Given the description of an element on the screen output the (x, y) to click on. 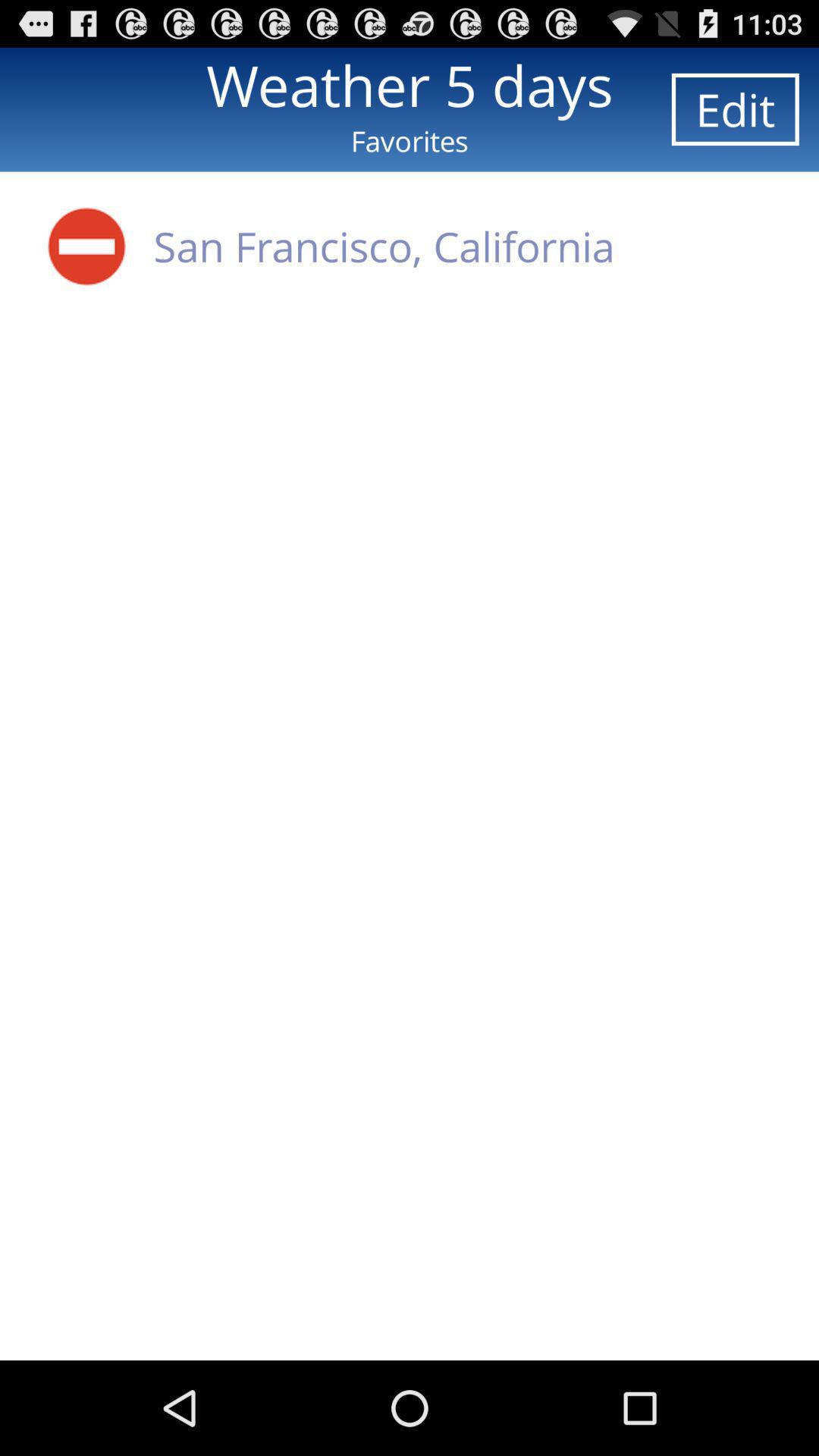
press the san francisco, california app (383, 245)
